Given the description of an element on the screen output the (x, y) to click on. 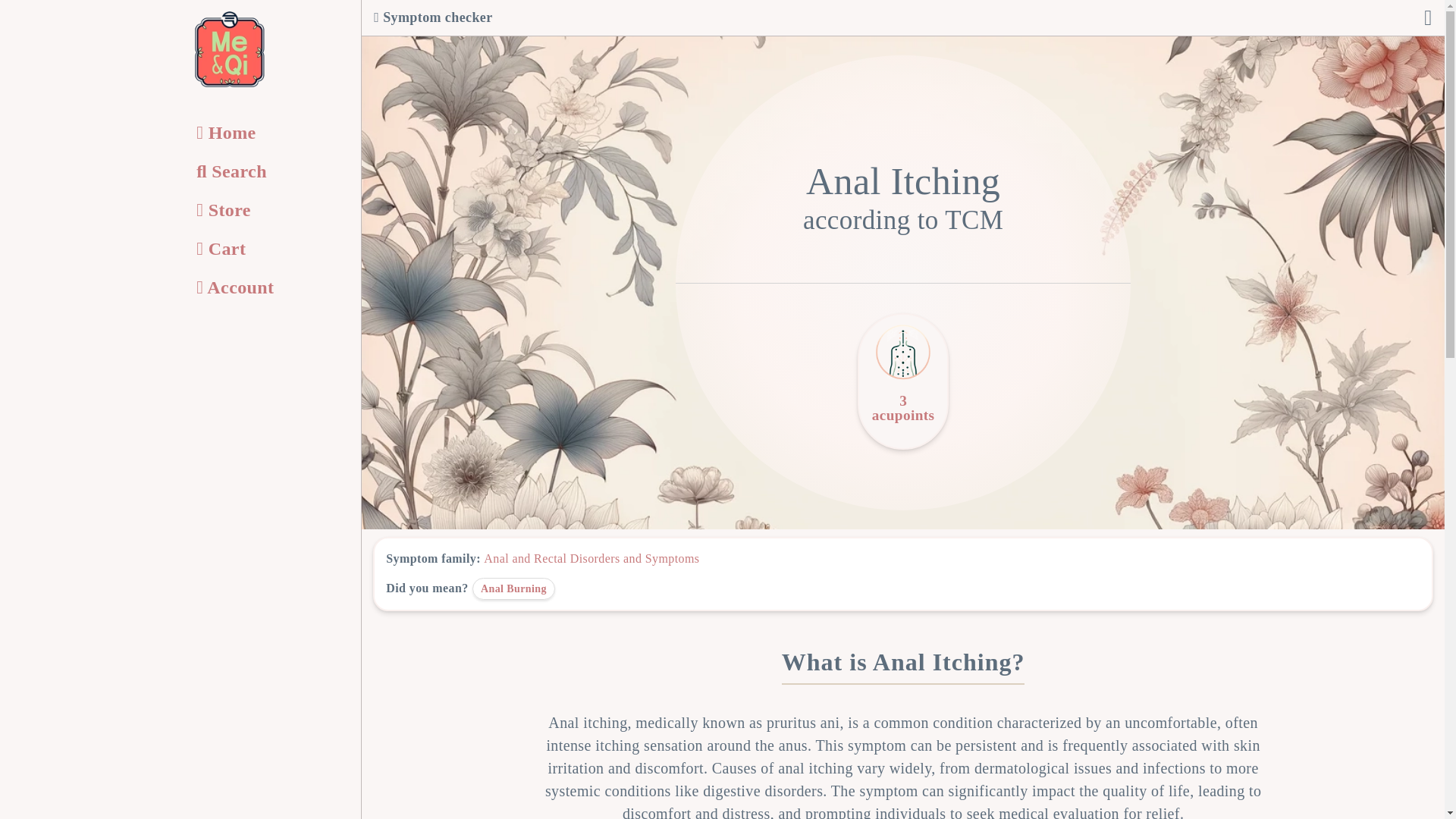
Anal Burning (512, 588)
Anal and Rectal Disorders and Symptoms (590, 558)
Cart (266, 248)
Home (266, 132)
Search (266, 171)
Store (266, 209)
Account (266, 286)
